Given the description of an element on the screen output the (x, y) to click on. 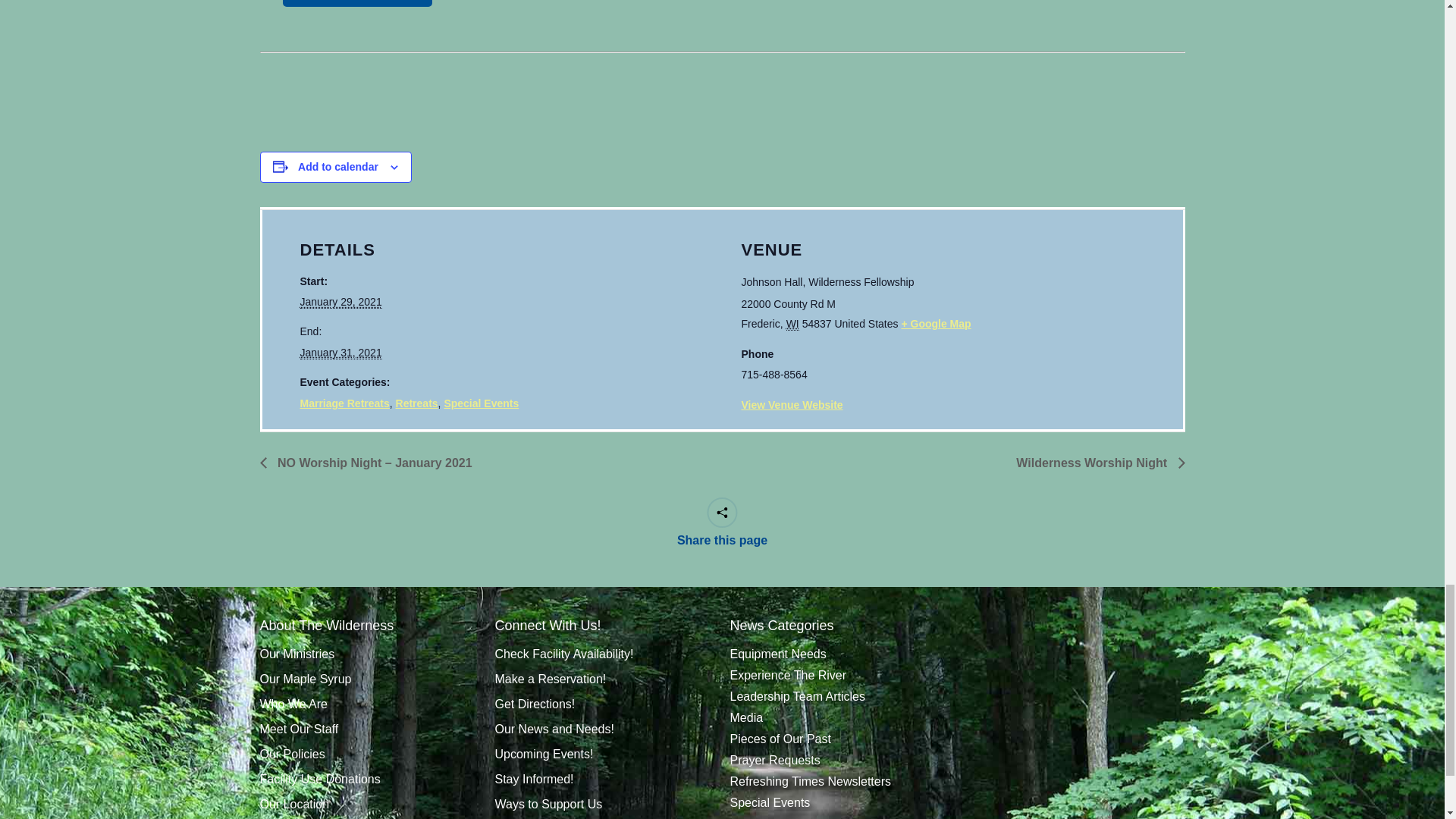
Submit Registration (356, 3)
